Given the description of an element on the screen output the (x, y) to click on. 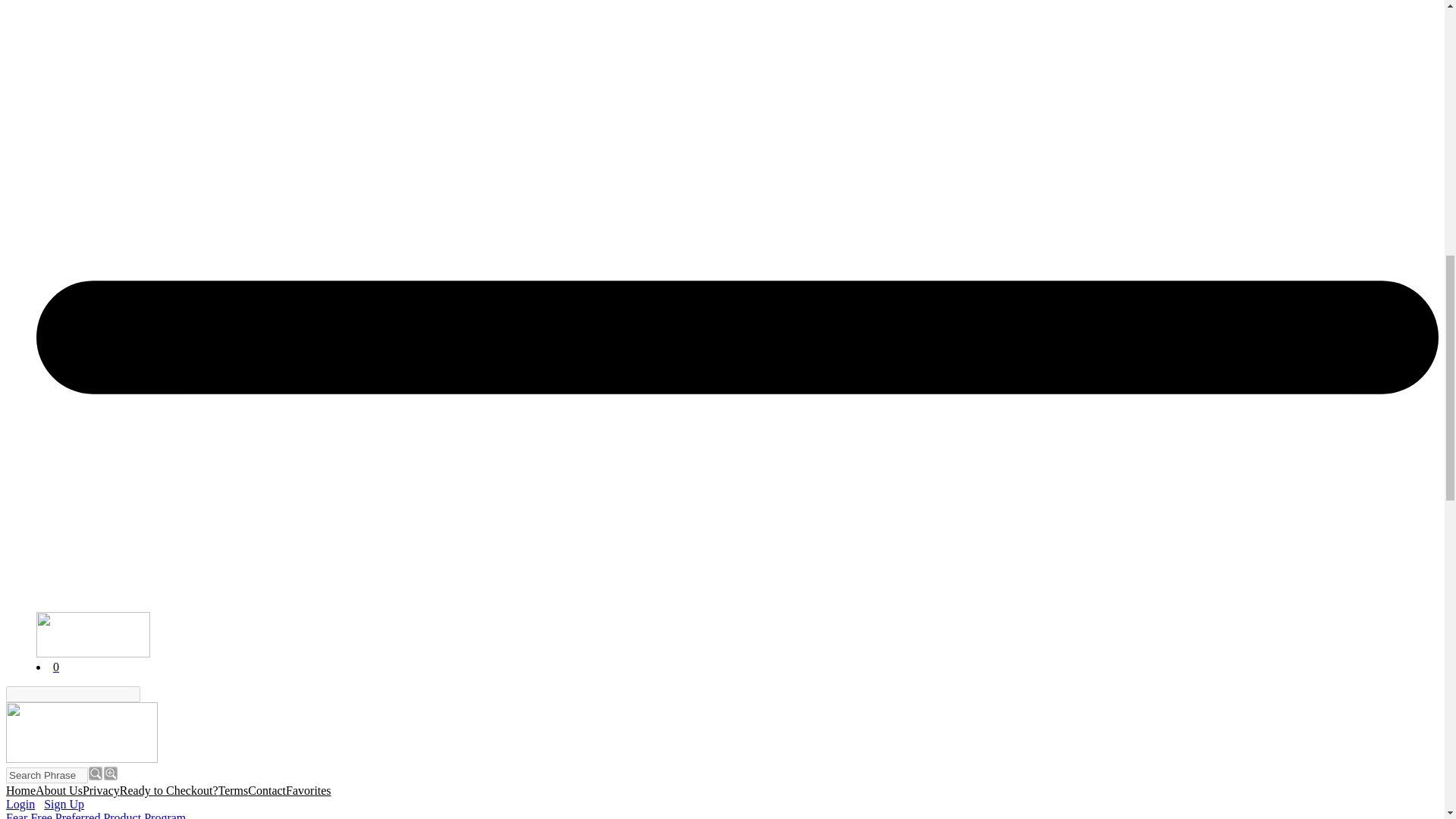
Privacy (100, 789)
Login (19, 803)
About Us (58, 789)
Advanced Search (110, 773)
Fear Free Preferred Product Program (95, 815)
Sign Up (63, 803)
Favorites (308, 789)
Contact (266, 789)
Sign Up (63, 803)
Login (19, 803)
Search Phrase (46, 774)
Search (95, 773)
Terms (233, 789)
Find (148, 694)
